Given the description of an element on the screen output the (x, y) to click on. 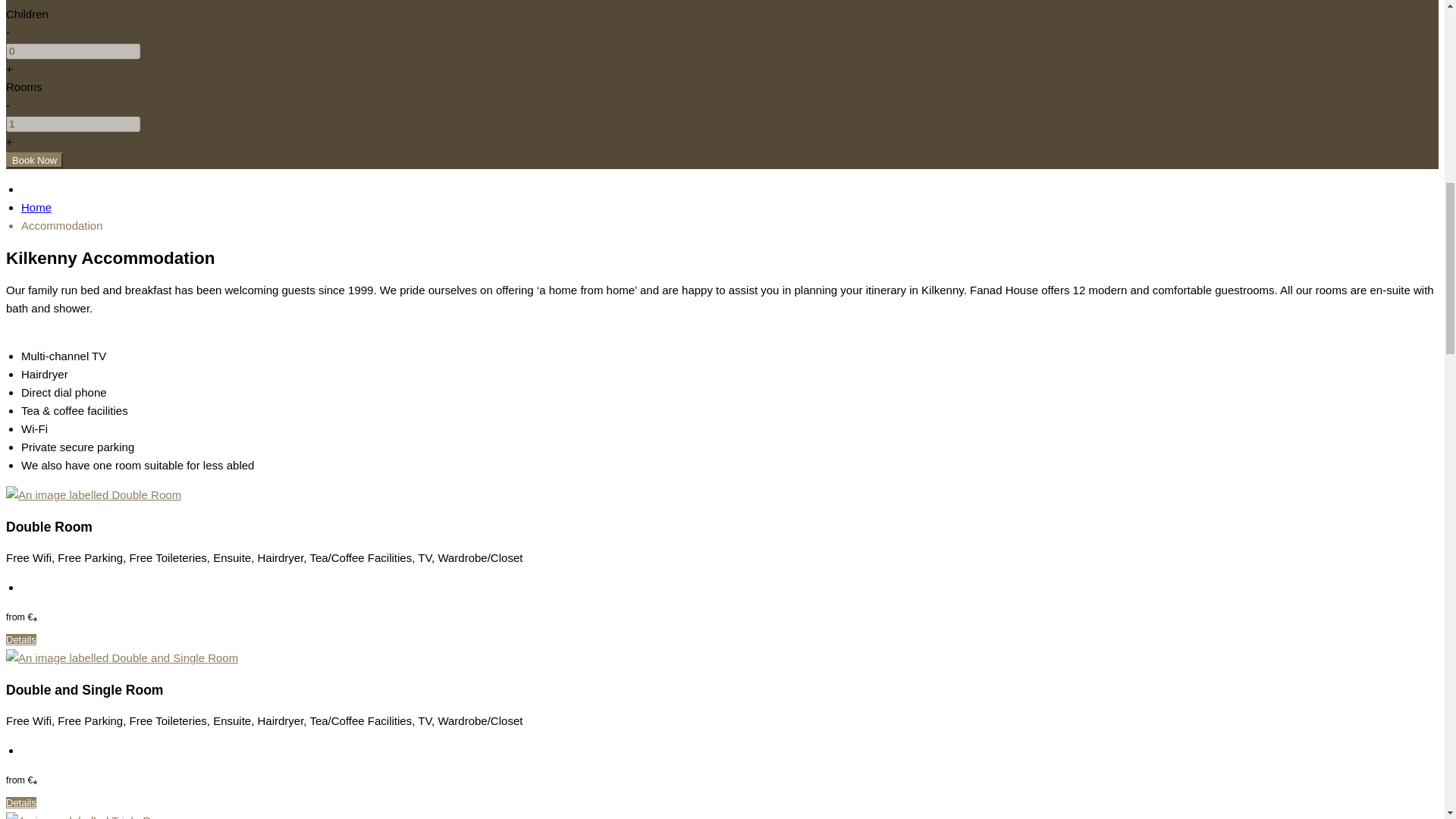
1 (72, 123)
Details (20, 802)
Home (35, 206)
Details (20, 639)
Book Now (33, 160)
Book Now (33, 160)
0 (72, 50)
